Given the description of an element on the screen output the (x, y) to click on. 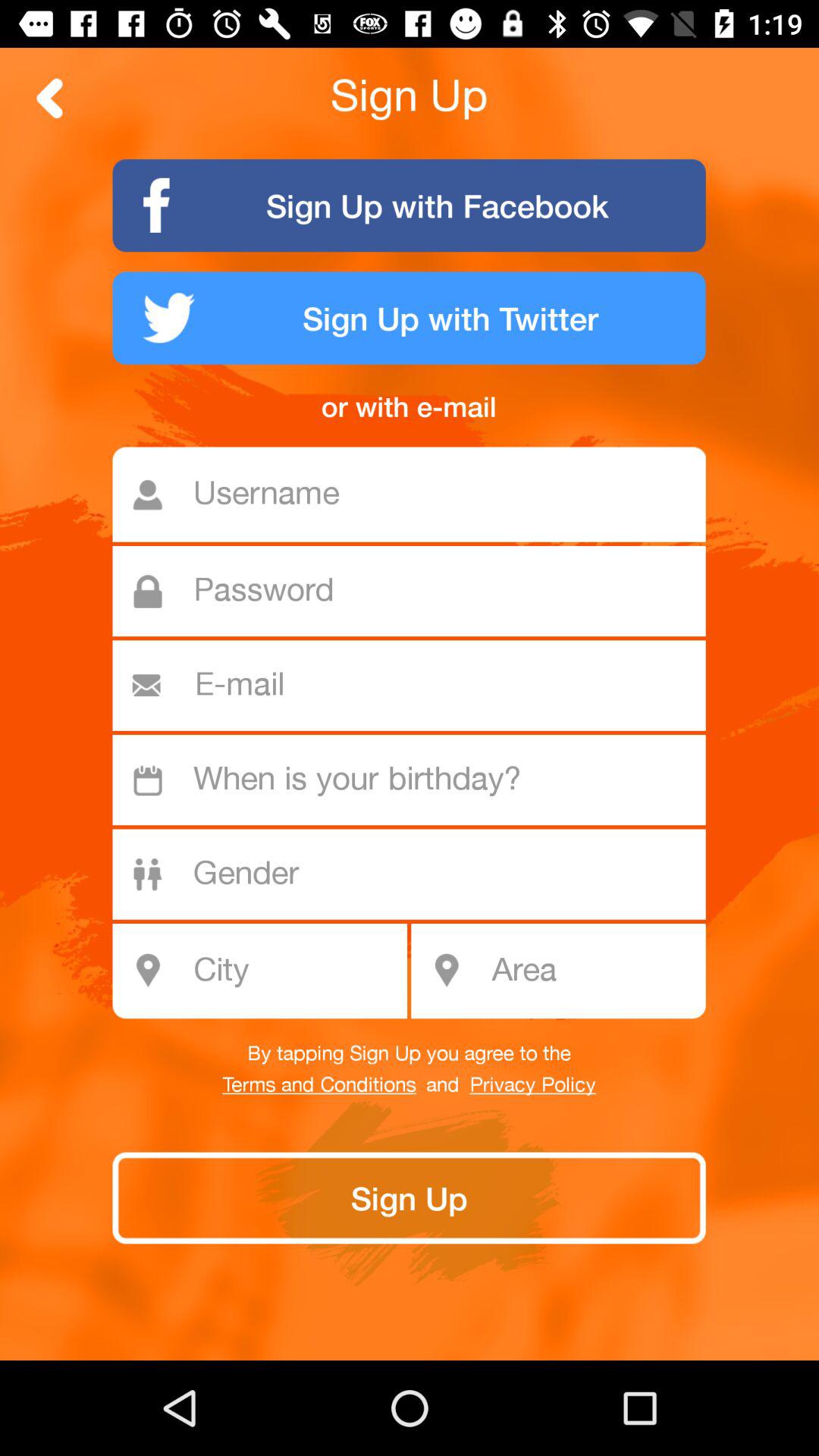
tap the item below the by tapping sign (532, 1085)
